Given the description of an element on the screen output the (x, y) to click on. 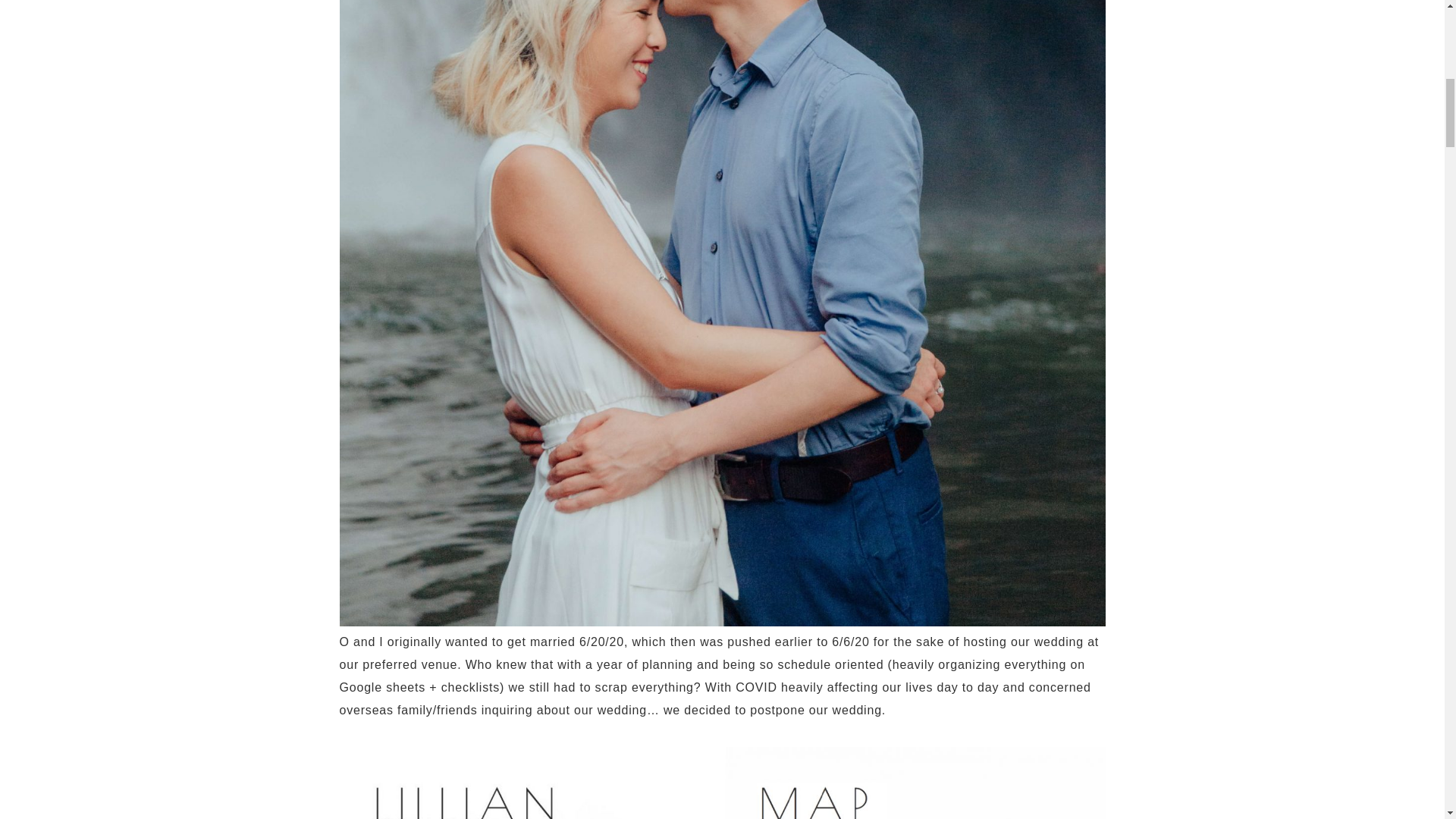
wedding-invite (529, 782)
Map (915, 782)
